Given the description of an element on the screen output the (x, y) to click on. 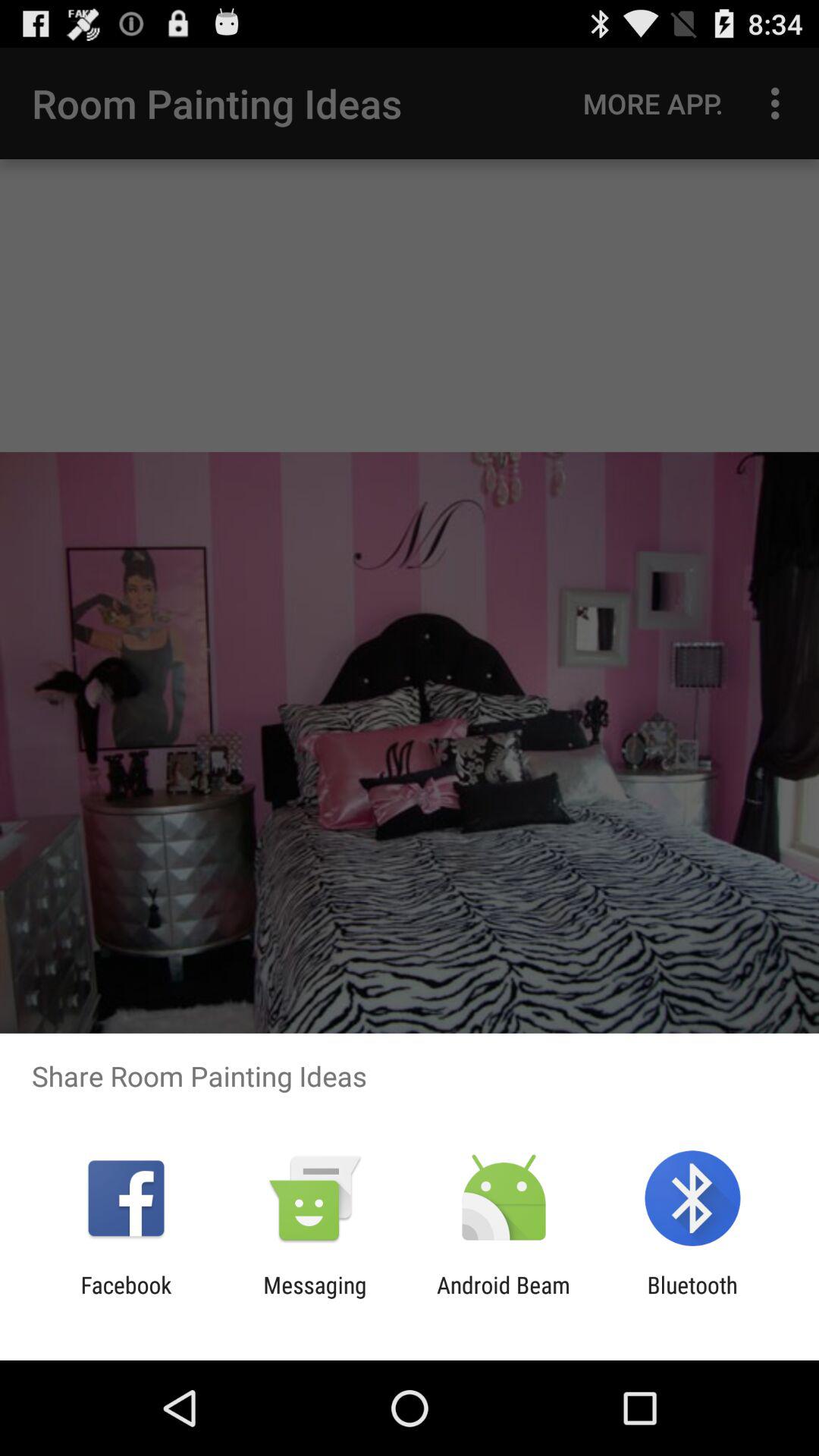
select icon next to messaging (503, 1298)
